Given the description of an element on the screen output the (x, y) to click on. 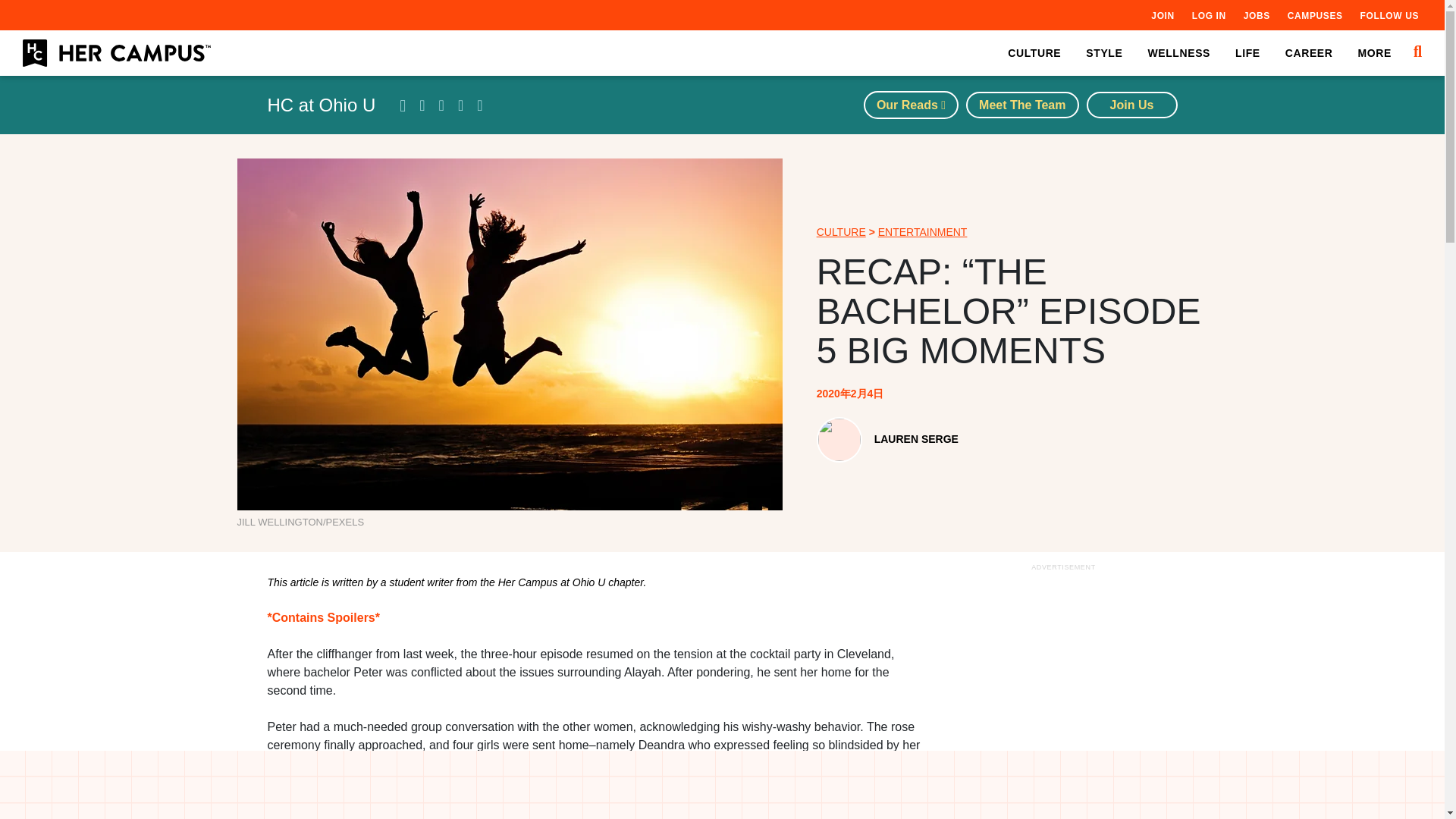
CAMPUSES (1314, 15)
JOBS (1256, 15)
LOG IN (1208, 15)
JOIN (1162, 15)
